Given the description of an element on the screen output the (x, y) to click on. 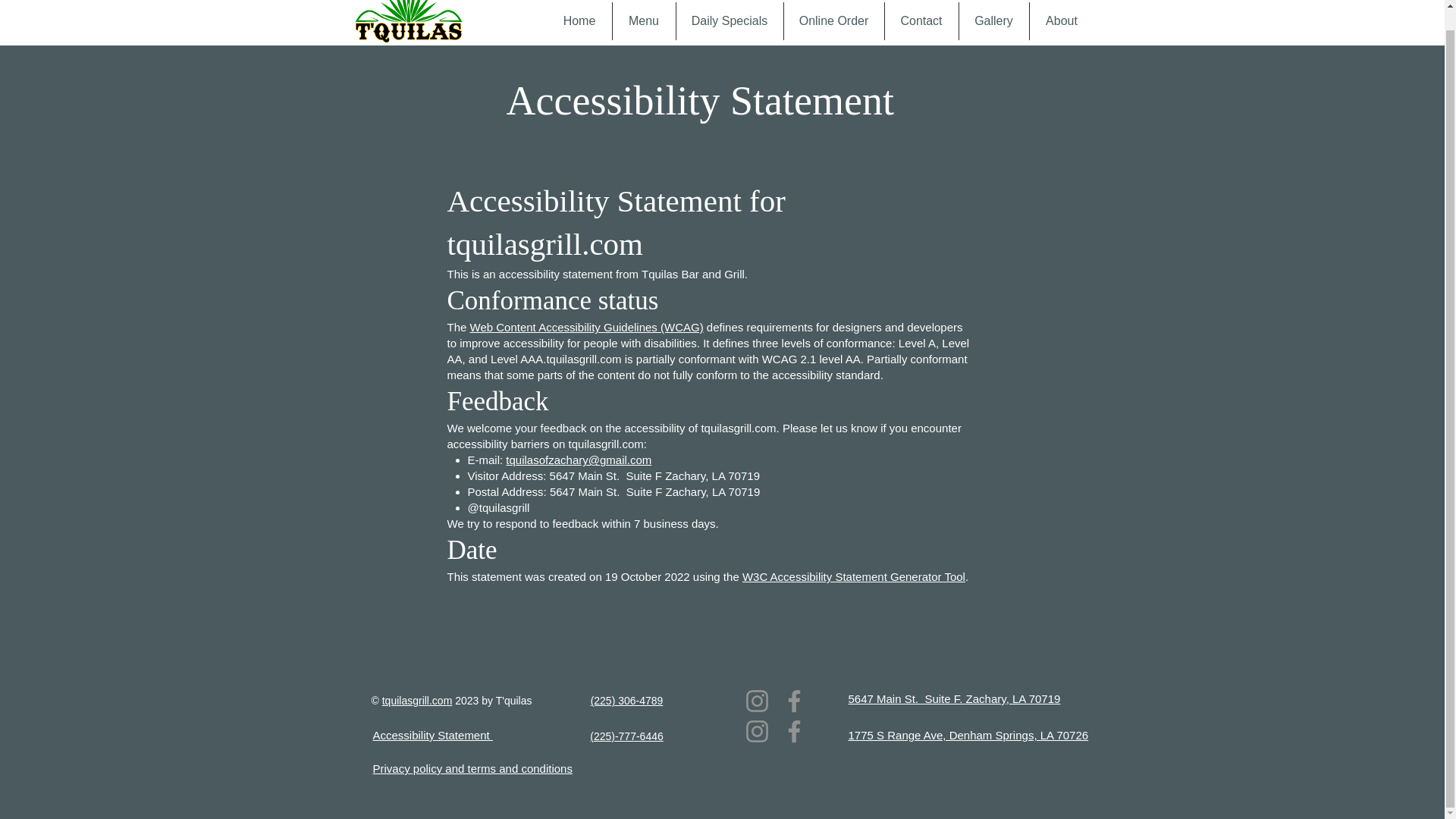
Daily Specials (730, 21)
Accessibility Statement  (432, 735)
W3C Accessibility Statement Generator Tool (853, 576)
Privacy policy and terms and conditions (472, 768)
Online Order (833, 21)
Menu (643, 21)
1775 S Range Ave, Denham Springs, LA 70726 (967, 735)
Gallery (992, 21)
Home (579, 21)
tquilasgrill.com (416, 700)
5647 Main St.  Suite F. Zachary, LA 70719 (953, 698)
Contact (920, 21)
About (1061, 21)
